Given the description of an element on the screen output the (x, y) to click on. 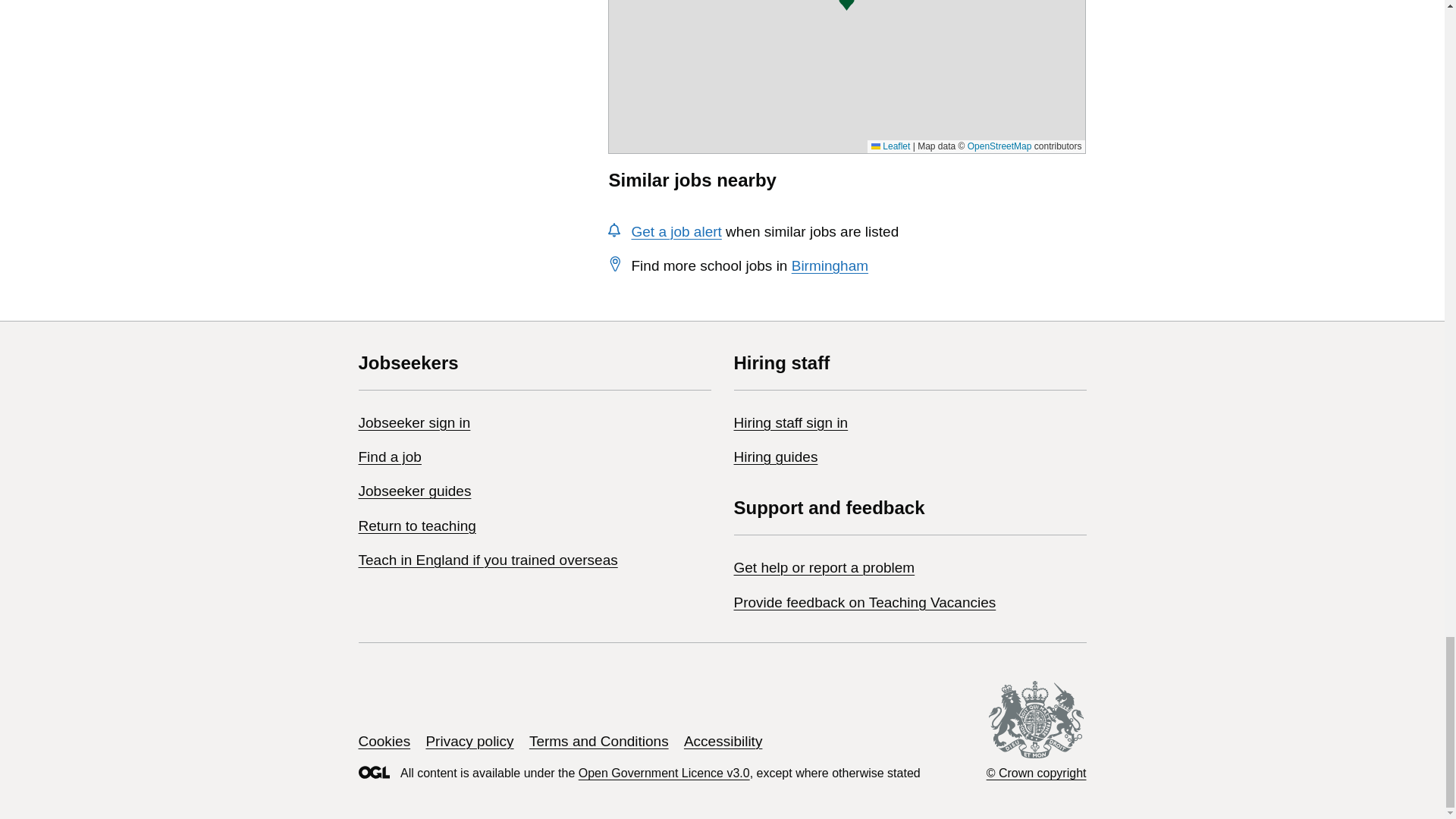
Vacancy location (847, 6)
Hiring staff sign in (790, 422)
Find a job (389, 456)
Provide feedback on Teaching Vacancies (864, 602)
Open Government Licence v3.0 (663, 772)
A JavaScript library for interactive maps (890, 145)
Privacy policy (469, 741)
Return to teaching (417, 525)
Jobseeker sign in (414, 422)
Get help or report a problem (824, 567)
